Given the description of an element on the screen output the (x, y) to click on. 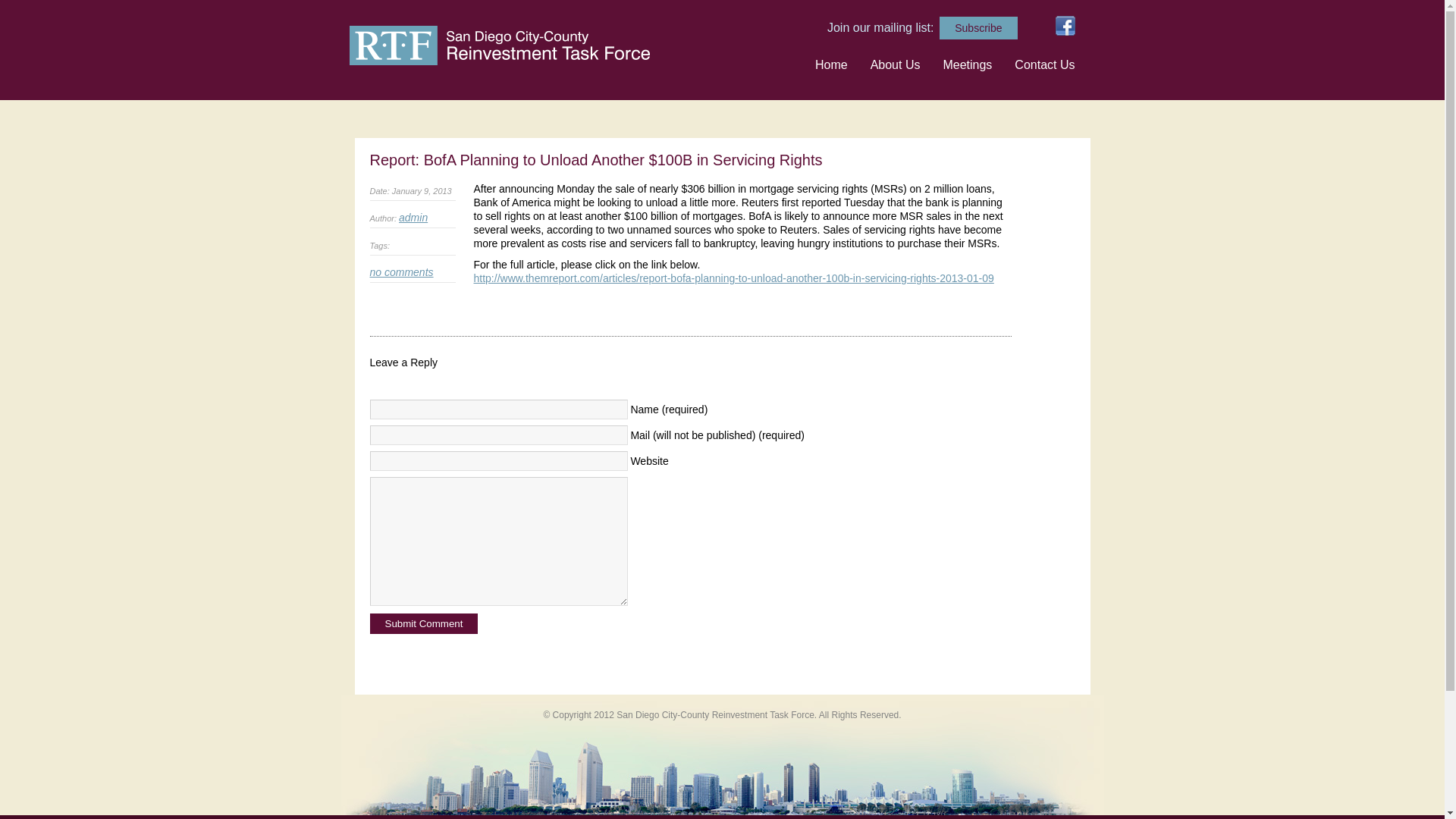
admin (413, 217)
Meetings (966, 64)
Home (831, 64)
Contact Us (1044, 64)
Submit Comment (424, 623)
About Us (895, 64)
Submit Comment (424, 623)
no comments (401, 272)
Subscribe (977, 27)
